Given the description of an element on the screen output the (x, y) to click on. 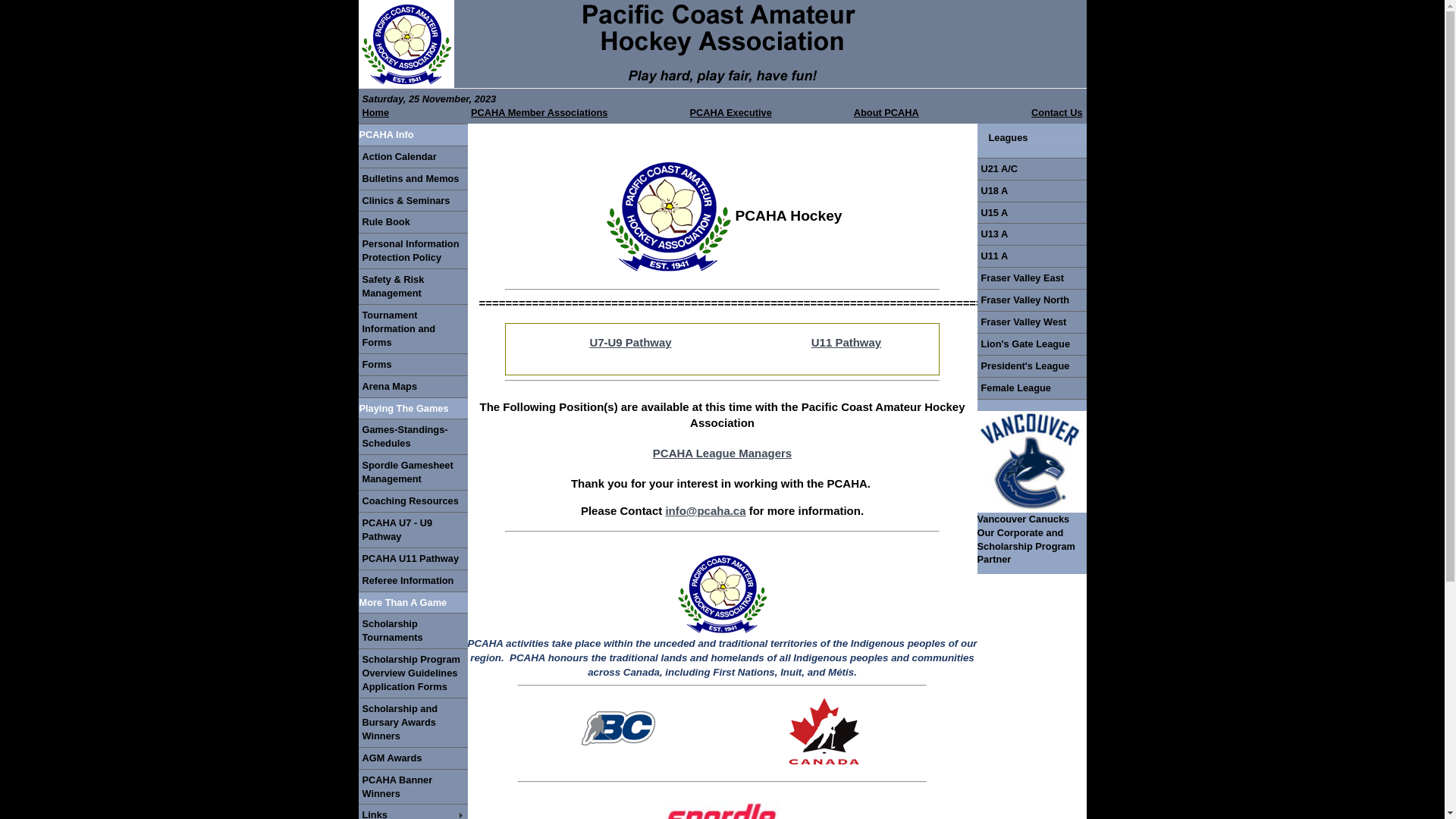
Home Element type: text (413, 112)
U15 A Element type: text (1030, 212)
Tournament Information and Forms Element type: text (412, 328)
Scholarship Tournaments Element type: text (412, 630)
Scholarship and Bursary Awards Winners Element type: text (412, 722)
Fraser Valley East Element type: text (1030, 277)
About PCAHA Element type: text (886, 112)
PCAHA Banner Winners Element type: text (412, 786)
President's League Element type: text (1030, 365)
Referee Information Element type: text (412, 580)
Female League Element type: text (1030, 387)
U13 A Element type: text (1030, 233)
Fraser Valley West Element type: text (1030, 321)
PCAHA League Managers Element type: text (721, 452)
Clinics & Seminars Element type: text (412, 200)
Rule Book Element type: text (412, 221)
PCAHA U7 - U9 Pathway Element type: text (412, 529)
Scholarship Program Overview Guidelines Application Forms Element type: text (412, 673)
AGM Awards Element type: text (412, 757)
Action Calendar Element type: text (412, 156)
Coaching Resources Element type: text (412, 500)
PCAHA U11 Pathway Element type: text (412, 558)
Safety & Risk Management Element type: text (412, 286)
Lion's Gate League Element type: text (1030, 343)
Contact Us Element type: text (1056, 112)
PCAHA Member Associations Element type: text (576, 112)
Playing The Games Element type: text (412, 407)
Games-Standings-Schedules Element type: text (412, 436)
U11 A Element type: text (1030, 255)
Spordle Gamesheet Management Element type: text (412, 472)
More Than A Game Element type: text (412, 602)
U7-U9 Pathway Element type: text (630, 341)
PCAHA Executive Element type: text (768, 112)
Fraser Valley North Element type: text (1030, 299)
Bulletins and Memos Element type: text (412, 178)
Forms Element type: text (412, 364)
info@pcaha.ca Element type: text (705, 510)
U11 Pathway Element type: text (846, 341)
U18 A Element type: text (1030, 190)
Arena Maps Element type: text (412, 386)
U21 A/C Element type: text (1030, 168)
PCAHA Info Element type: text (412, 134)
Personal Information Protection Policy Element type: text (412, 250)
